Given the description of an element on the screen output the (x, y) to click on. 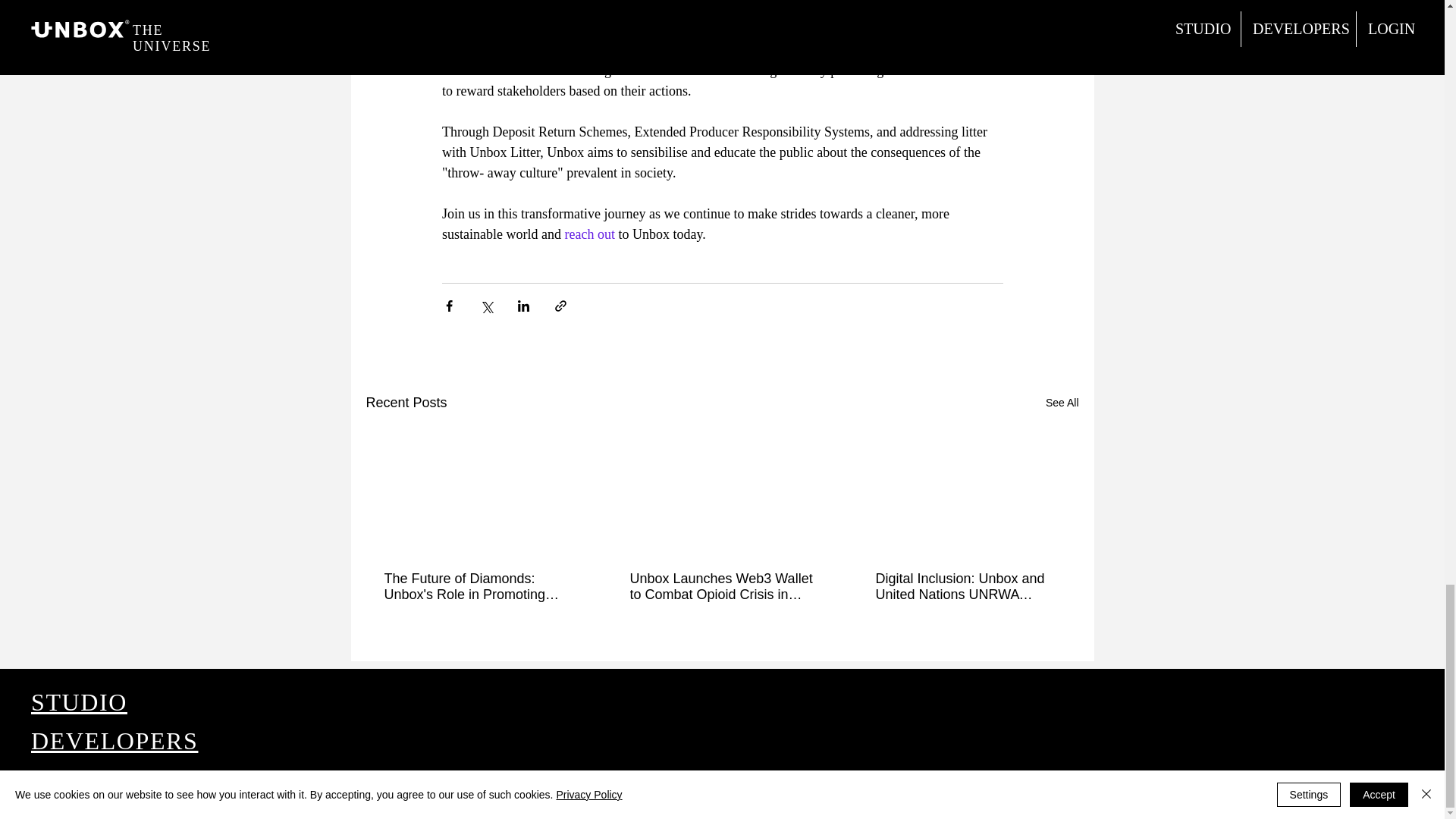
Online terms  (121, 791)
Privacy policy (236, 791)
DEVELOPERS (114, 740)
STUDIO (79, 701)
See All (1061, 402)
reach out (589, 233)
Cookies (176, 791)
